Given the description of an element on the screen output the (x, y) to click on. 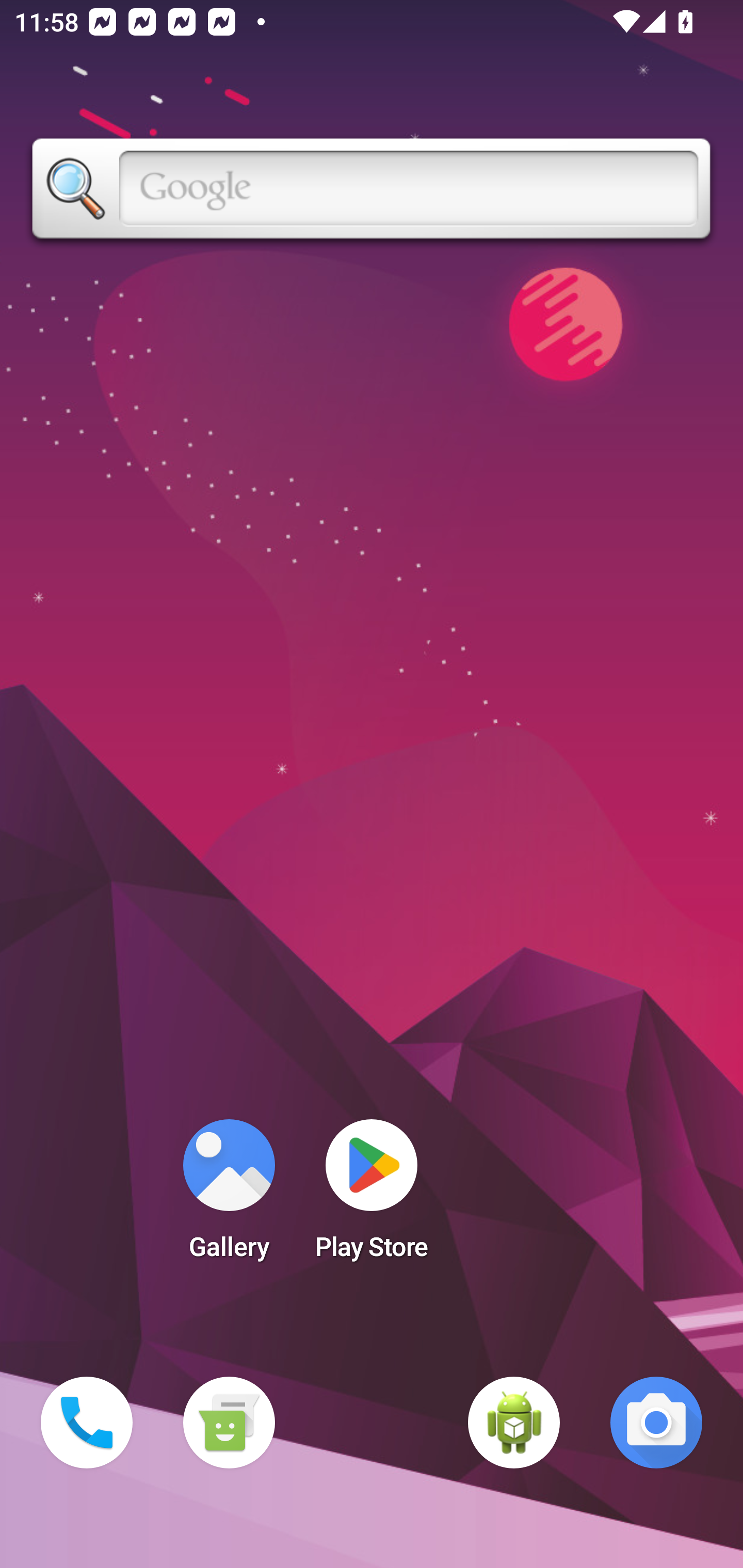
Gallery (228, 1195)
Play Store (371, 1195)
Phone (86, 1422)
Messaging (228, 1422)
WebView Browser Tester (513, 1422)
Camera (656, 1422)
